Given the description of an element on the screen output the (x, y) to click on. 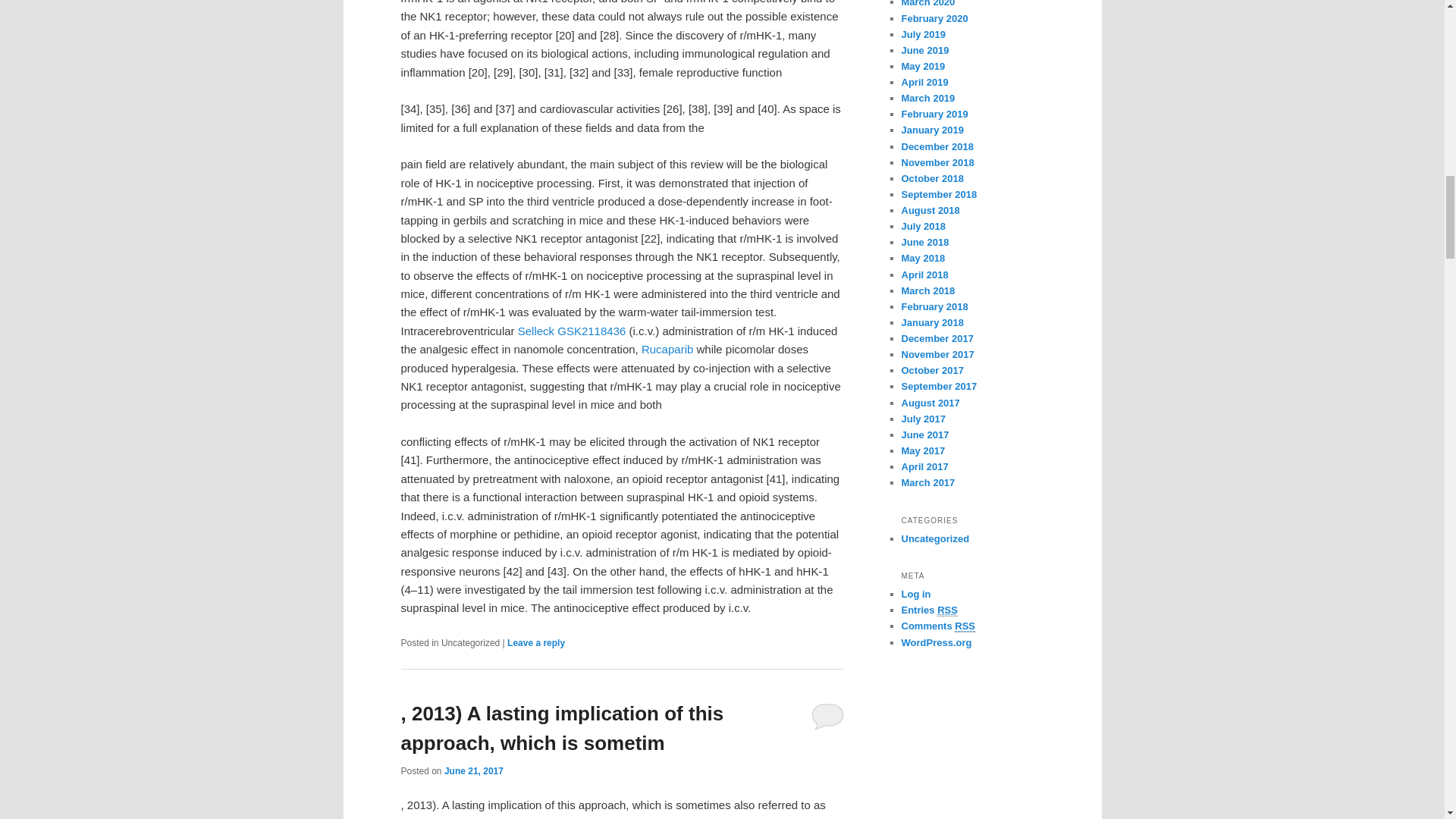
June 21, 2017 (473, 770)
Selleck GSK2118436 (572, 330)
Rucaparib (667, 349)
Leave a reply (535, 643)
